Given the description of an element on the screen output the (x, y) to click on. 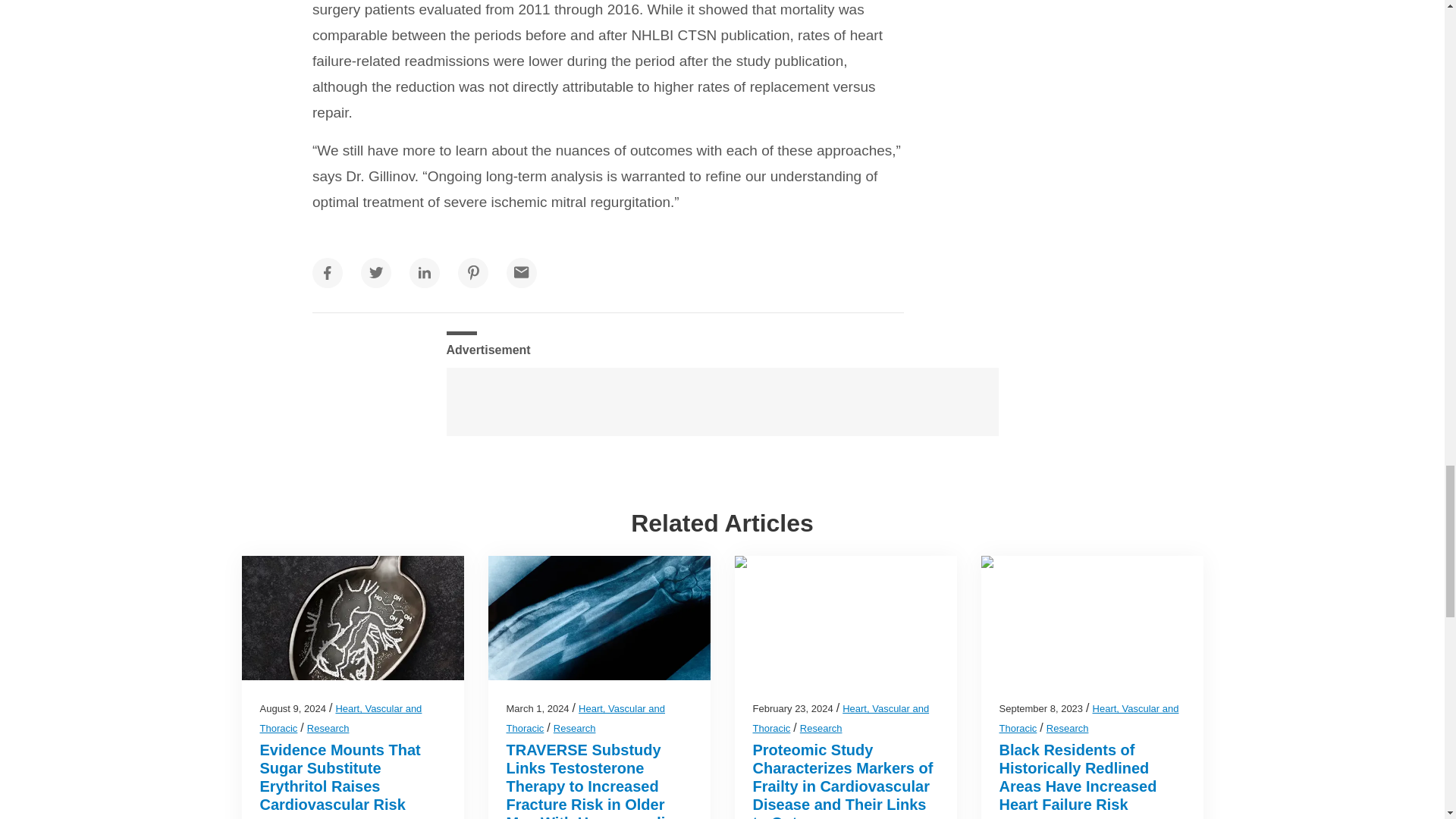
Research (328, 727)
Heart, Vascular and Thoracic (585, 717)
Heart, Vascular and Thoracic (340, 717)
